Given the description of an element on the screen output the (x, y) to click on. 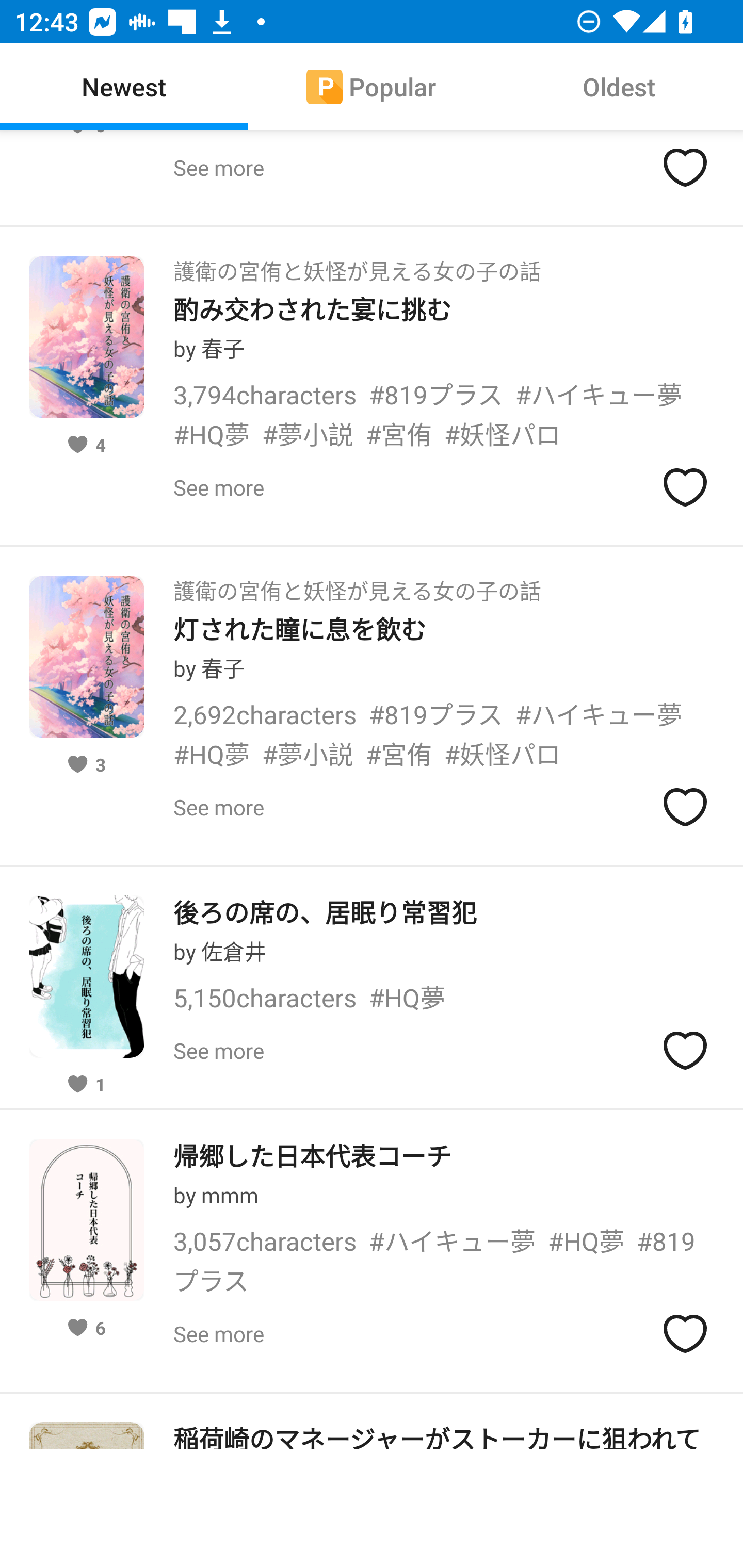
[P] Popular (371, 86)
Oldest (619, 86)
護衛の宮侑と妖怪が見える女の子の話 (356, 265)
護衛の宮侑と妖怪が見える女の子の話 (356, 584)
